Given the description of an element on the screen output the (x, y) to click on. 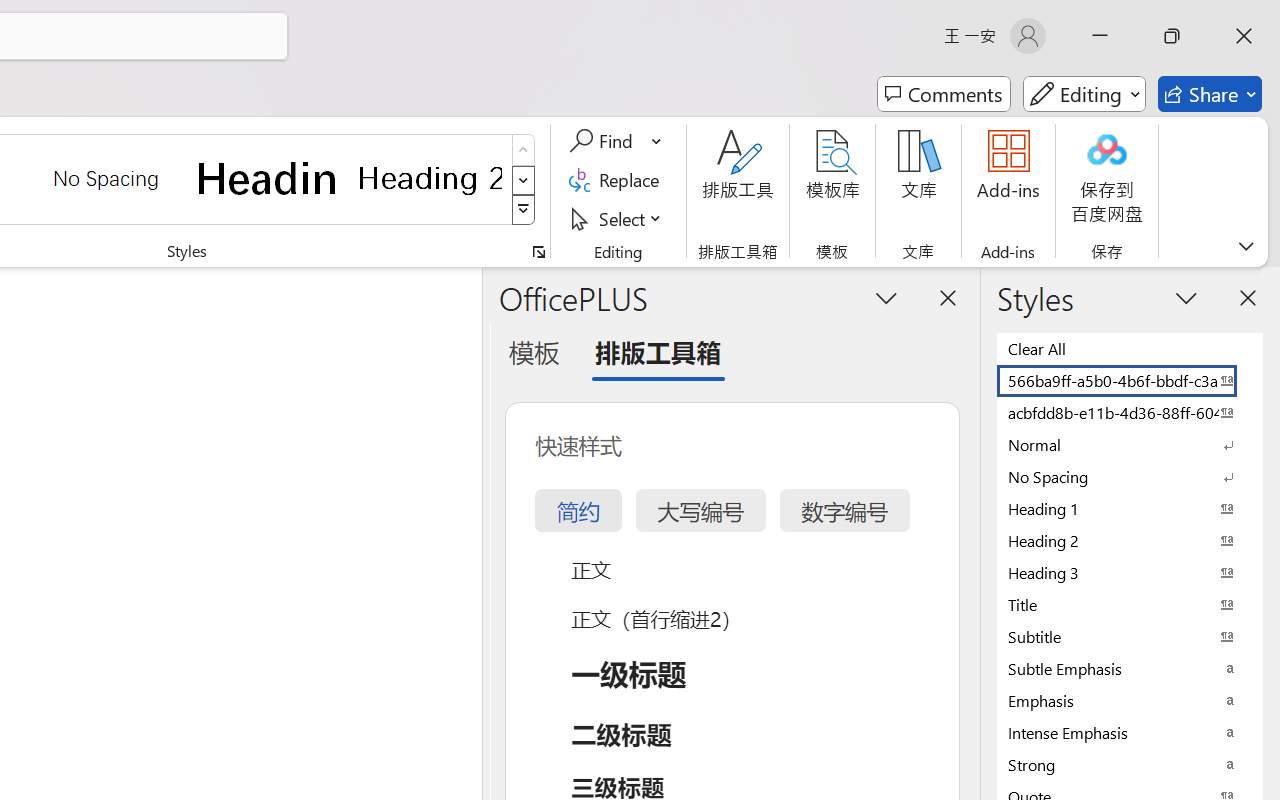
Strong (1130, 764)
Restore Down (1172, 36)
Title (1130, 604)
Heading 1 (267, 178)
Close (1244, 36)
Row up (523, 150)
Find (616, 141)
Styles... (538, 252)
Clear All (1130, 348)
acbfdd8b-e11b-4d36-88ff-6049b138f862 (1130, 412)
Find (604, 141)
